Given the description of an element on the screen output the (x, y) to click on. 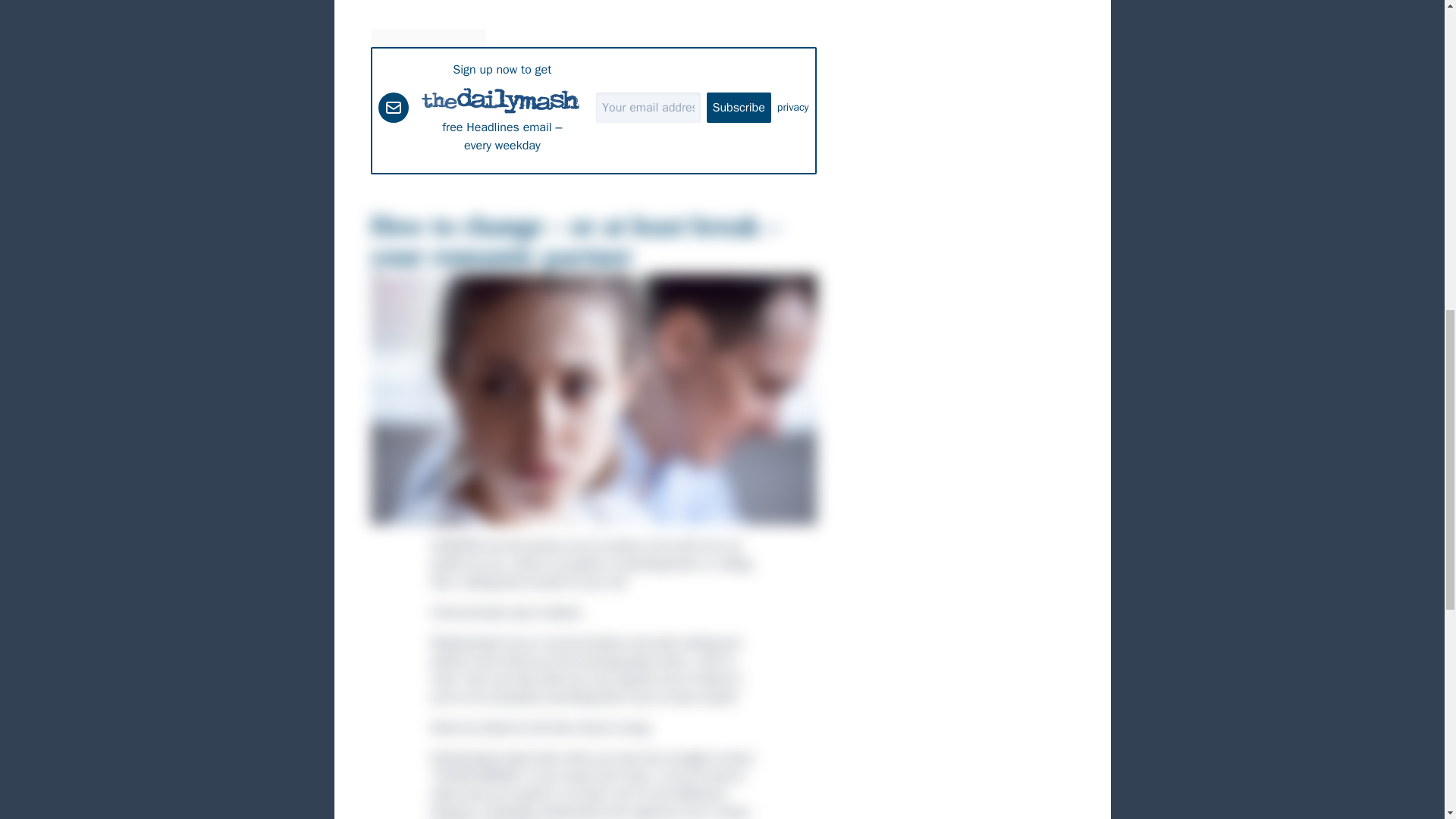
privacy (793, 107)
Subscribe (738, 107)
